Given the description of an element on the screen output the (x, y) to click on. 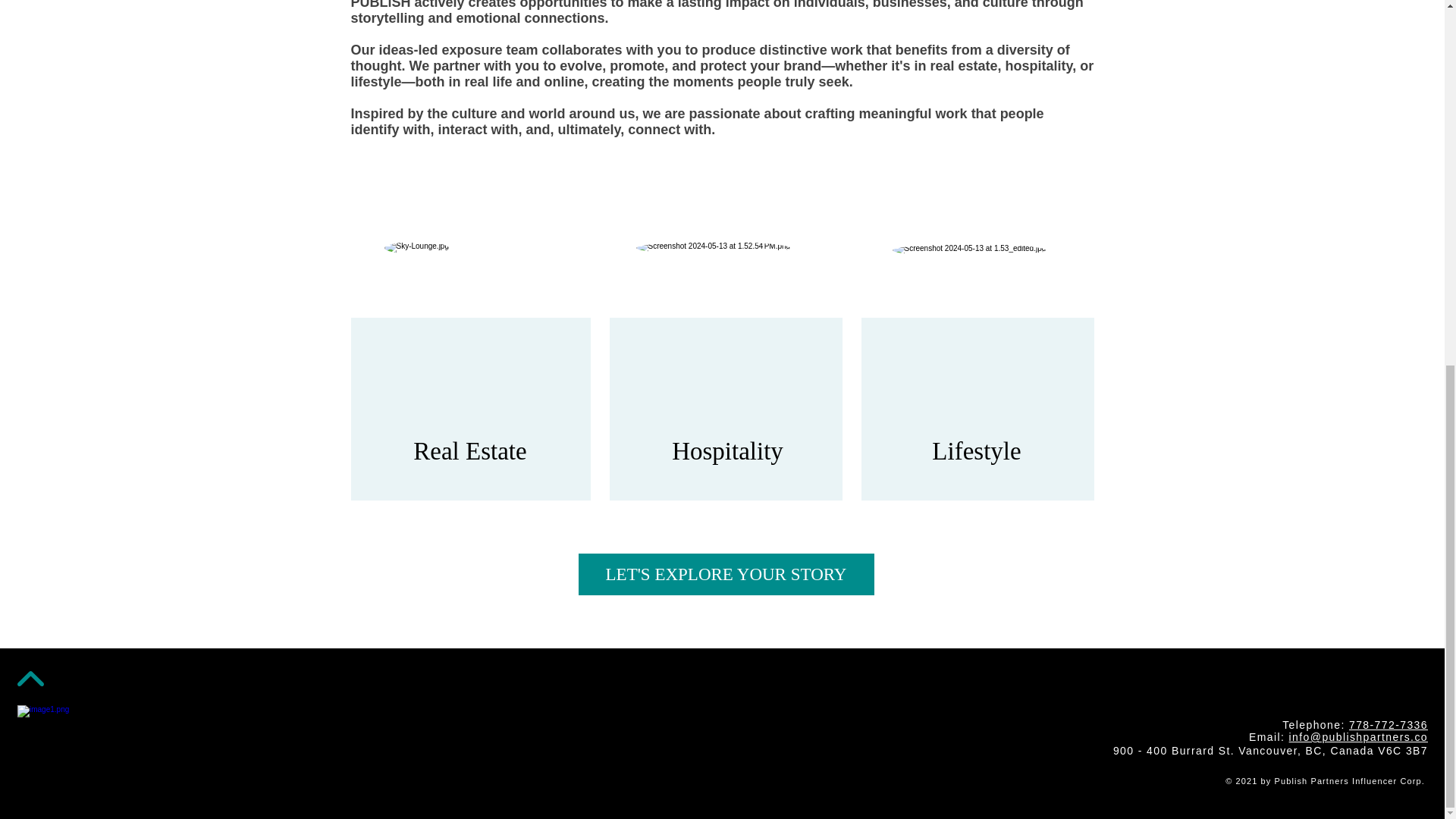
778-772-7336 (1388, 725)
LET'S EXPLORE YOUR STORY (725, 574)
